Given the description of an element on the screen output the (x, y) to click on. 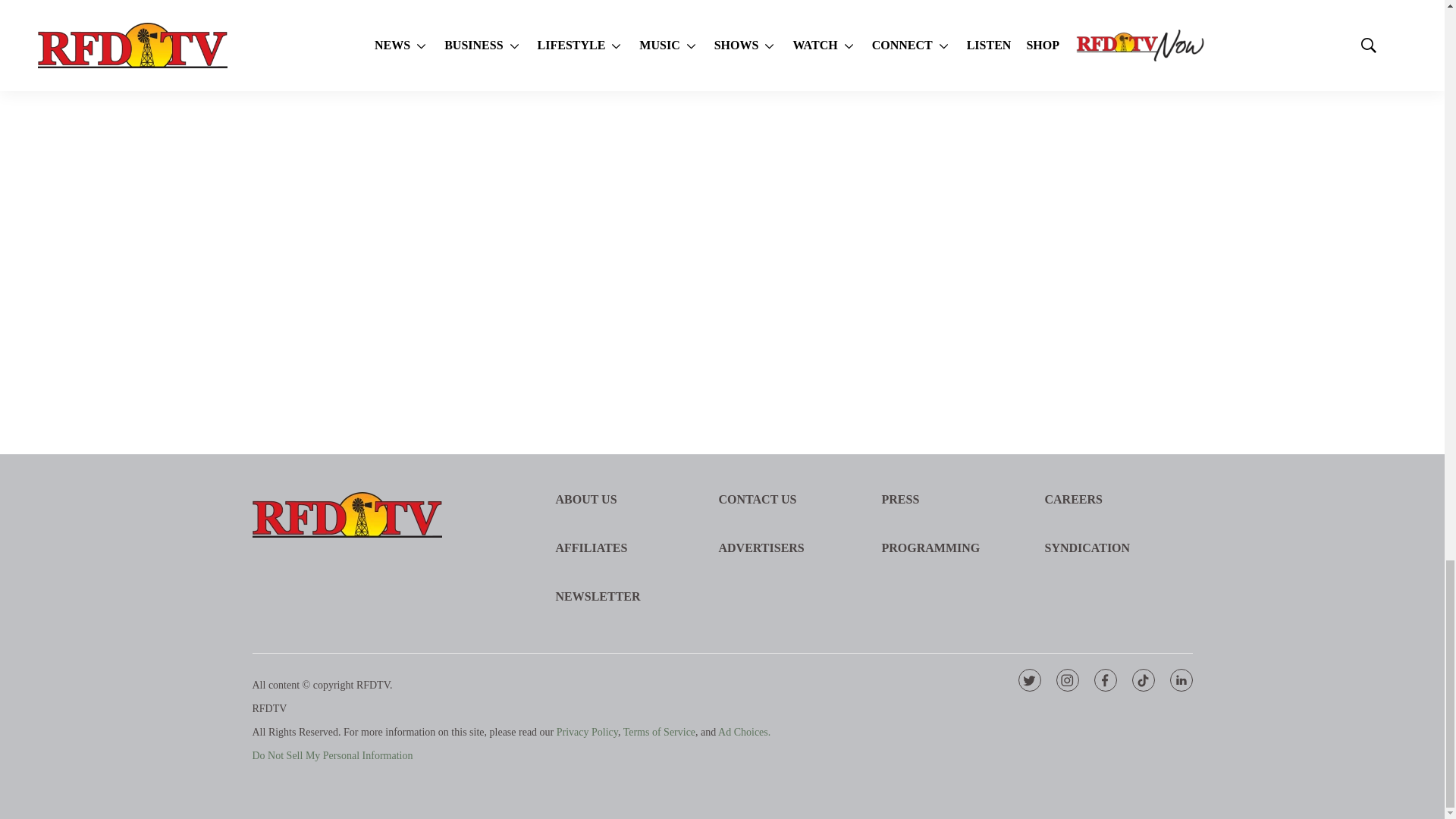
Signup Widget Embed (1070, 174)
